Given the description of an element on the screen output the (x, y) to click on. 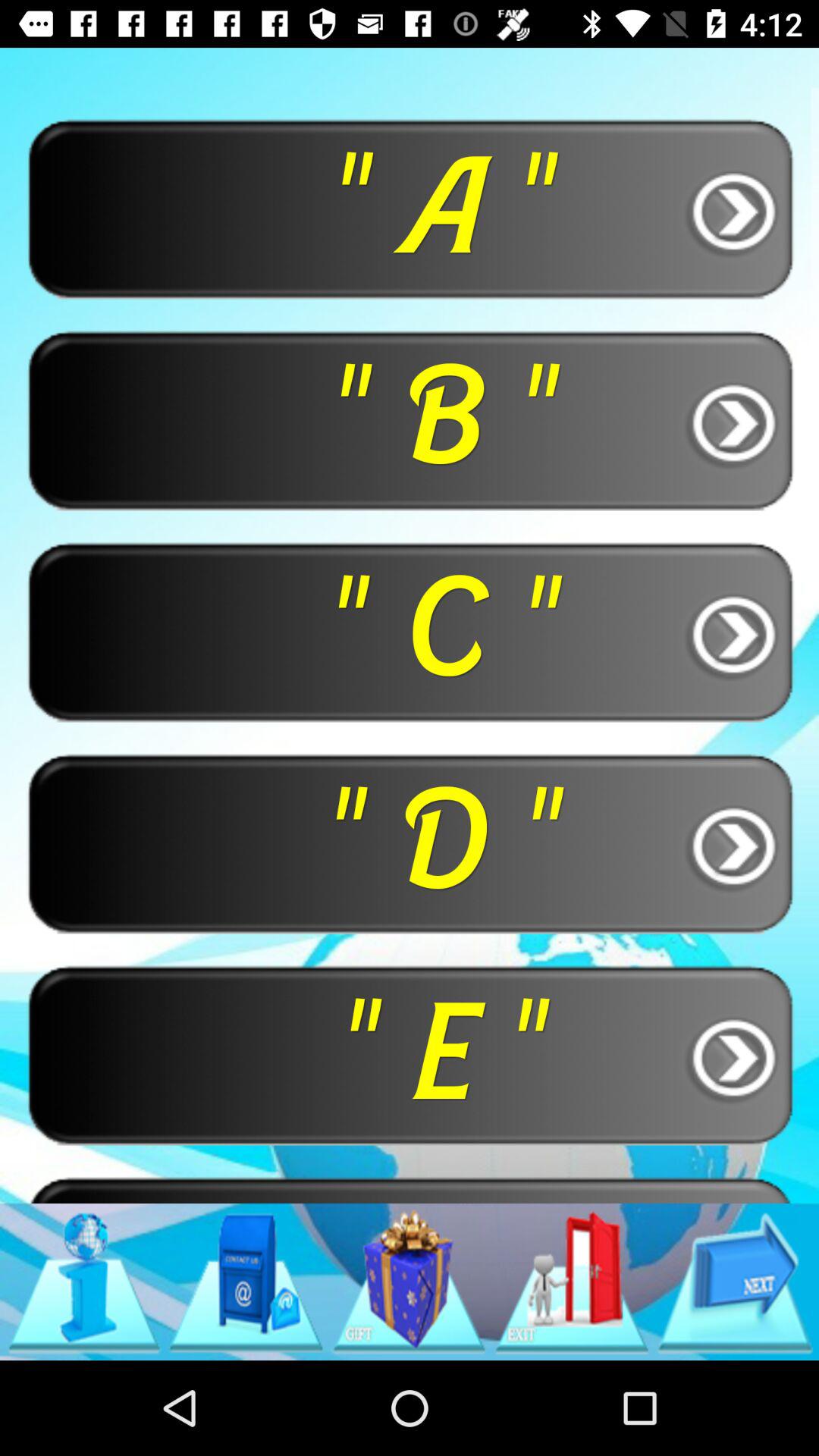
tap the button below the   " c " item (409, 842)
